Given the description of an element on the screen output the (x, y) to click on. 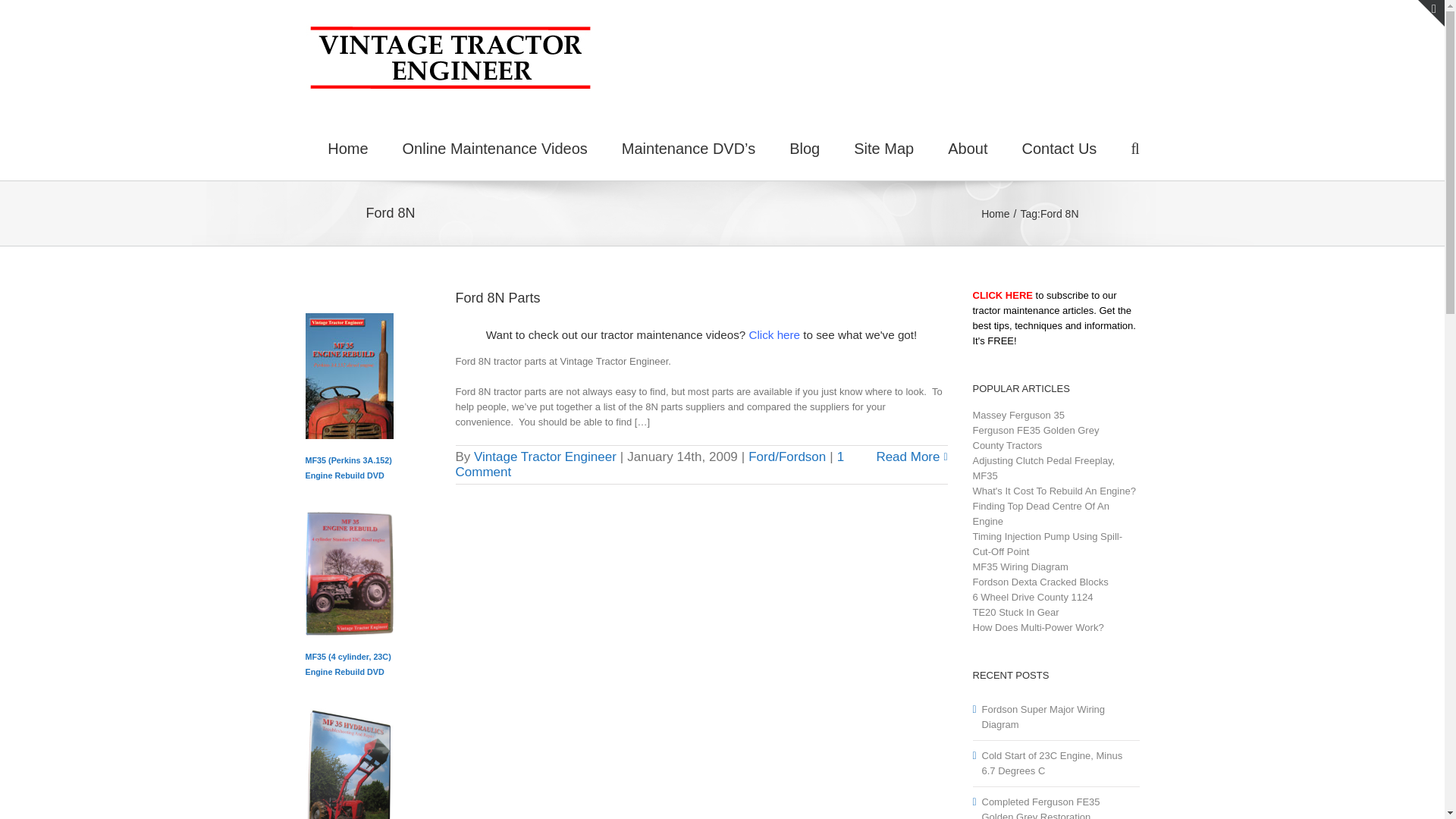
Home (995, 214)
Posts by Vintage Tractor Engineer (544, 456)
Vintage Tractor Engineer (544, 456)
Ford 8N Parts (497, 297)
Read More (907, 456)
subscribe to receive our tractor maintenance articles (1002, 295)
1 Comment (649, 464)
Site Map (883, 147)
Online Maintenance Videos (495, 147)
Click here (773, 334)
